Given the description of an element on the screen output the (x, y) to click on. 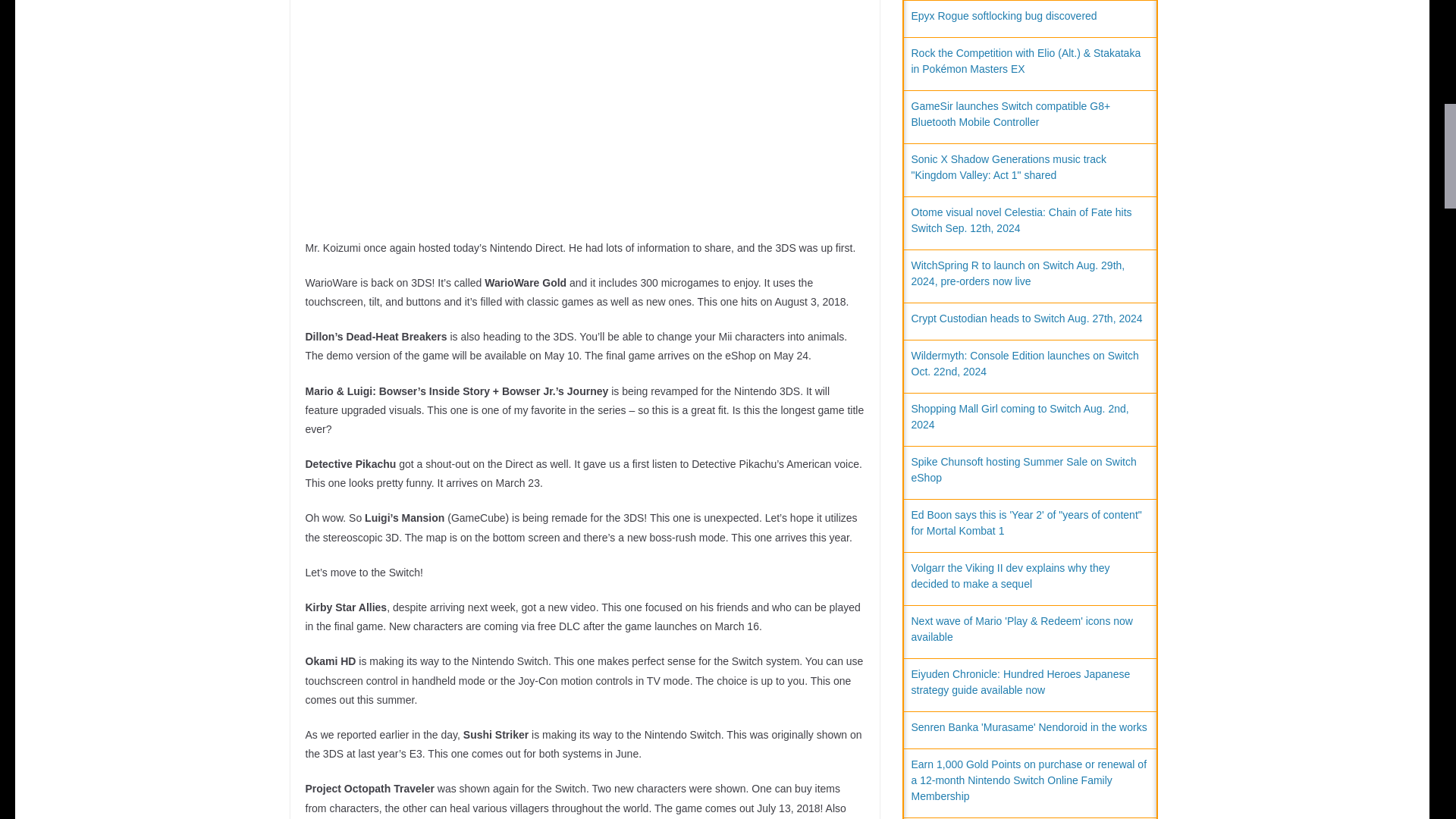
YouTube player (583, 93)
